Given the description of an element on the screen output the (x, y) to click on. 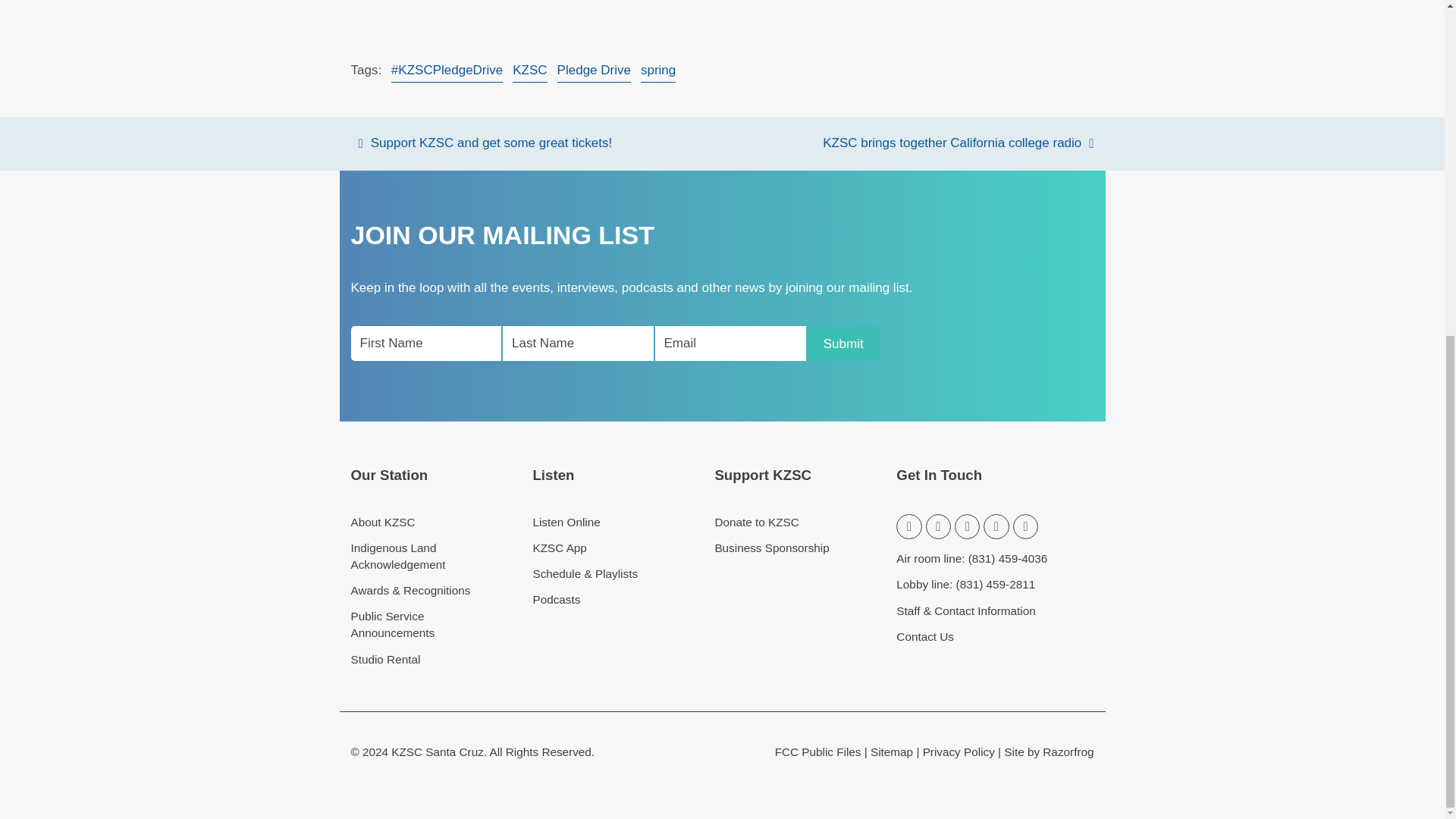
Facebook (938, 526)
Twitter (908, 526)
FCC Files (817, 751)
Tiktok (1025, 526)
YouTube (996, 526)
Instagram (967, 526)
Sitemap (891, 751)
Submit (842, 343)
Razorfrog Web Design (1048, 751)
